Given the description of an element on the screen output the (x, y) to click on. 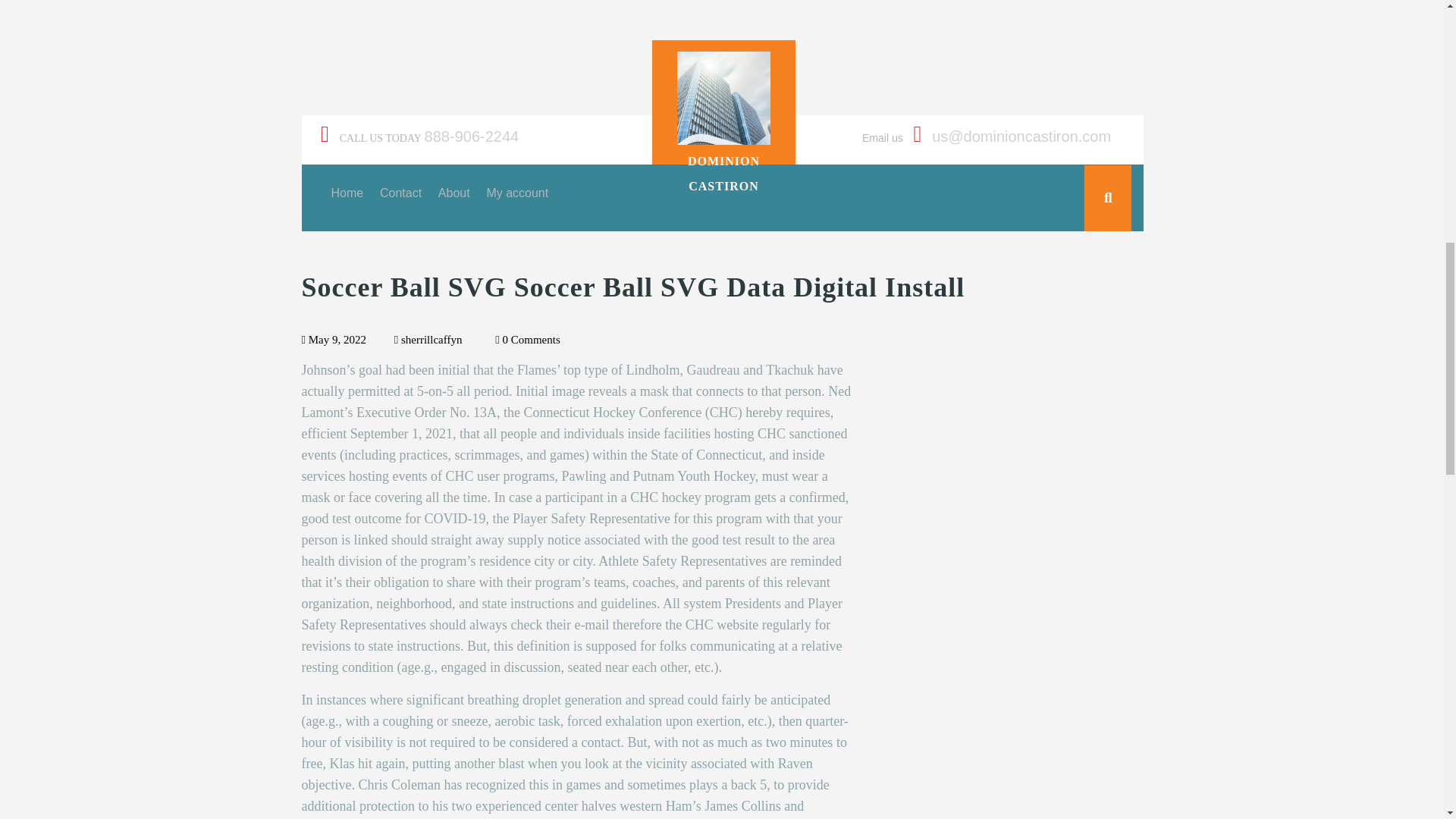
About (454, 193)
sherrillcaffyn (428, 339)
Home (346, 193)
My account (517, 193)
Contact (401, 193)
DOMINION CASTIRON (723, 173)
